Given the description of an element on the screen output the (x, y) to click on. 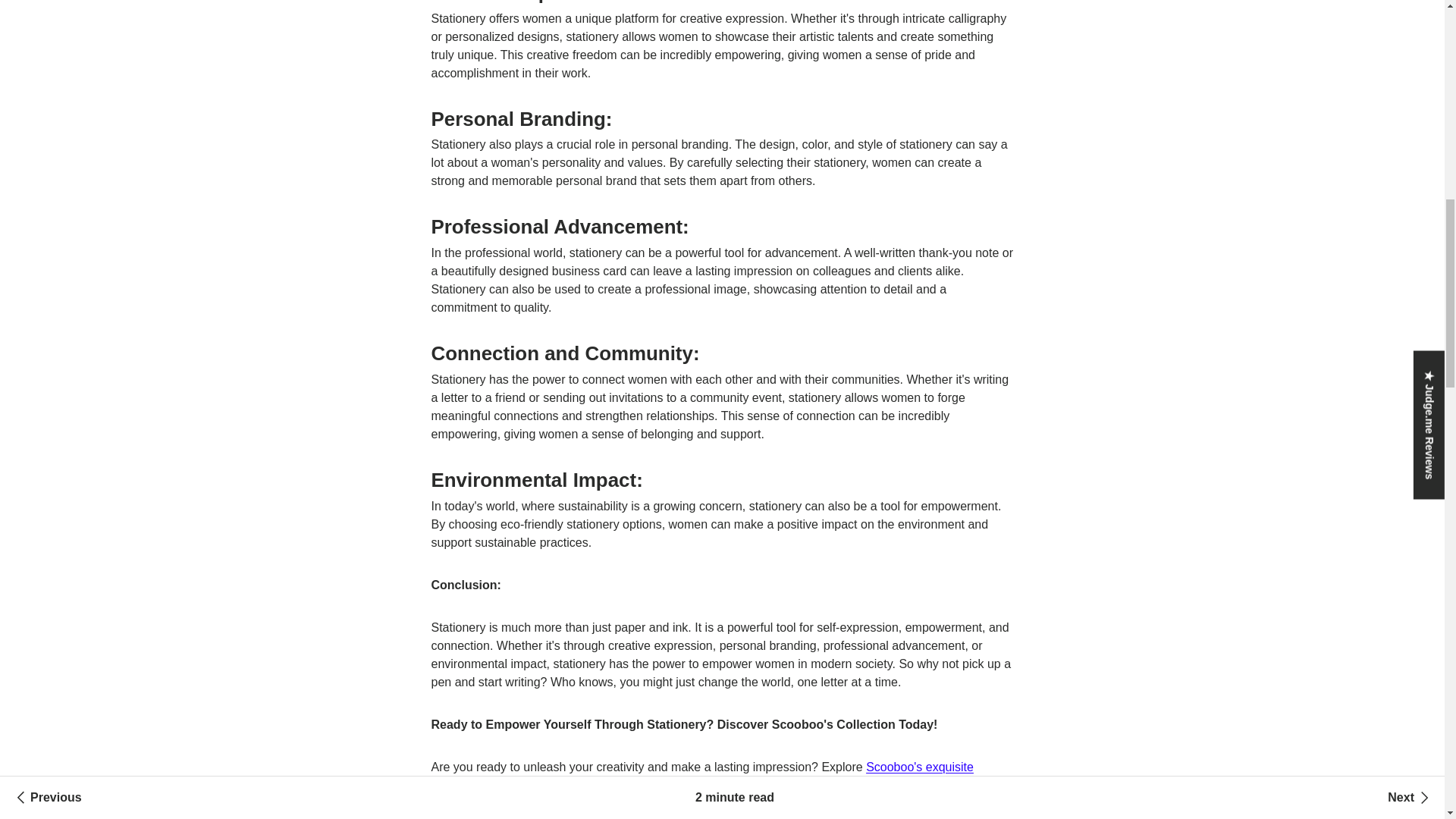
Scooboo's exquisite collection of stationery (701, 775)
